Given the description of an element on the screen output the (x, y) to click on. 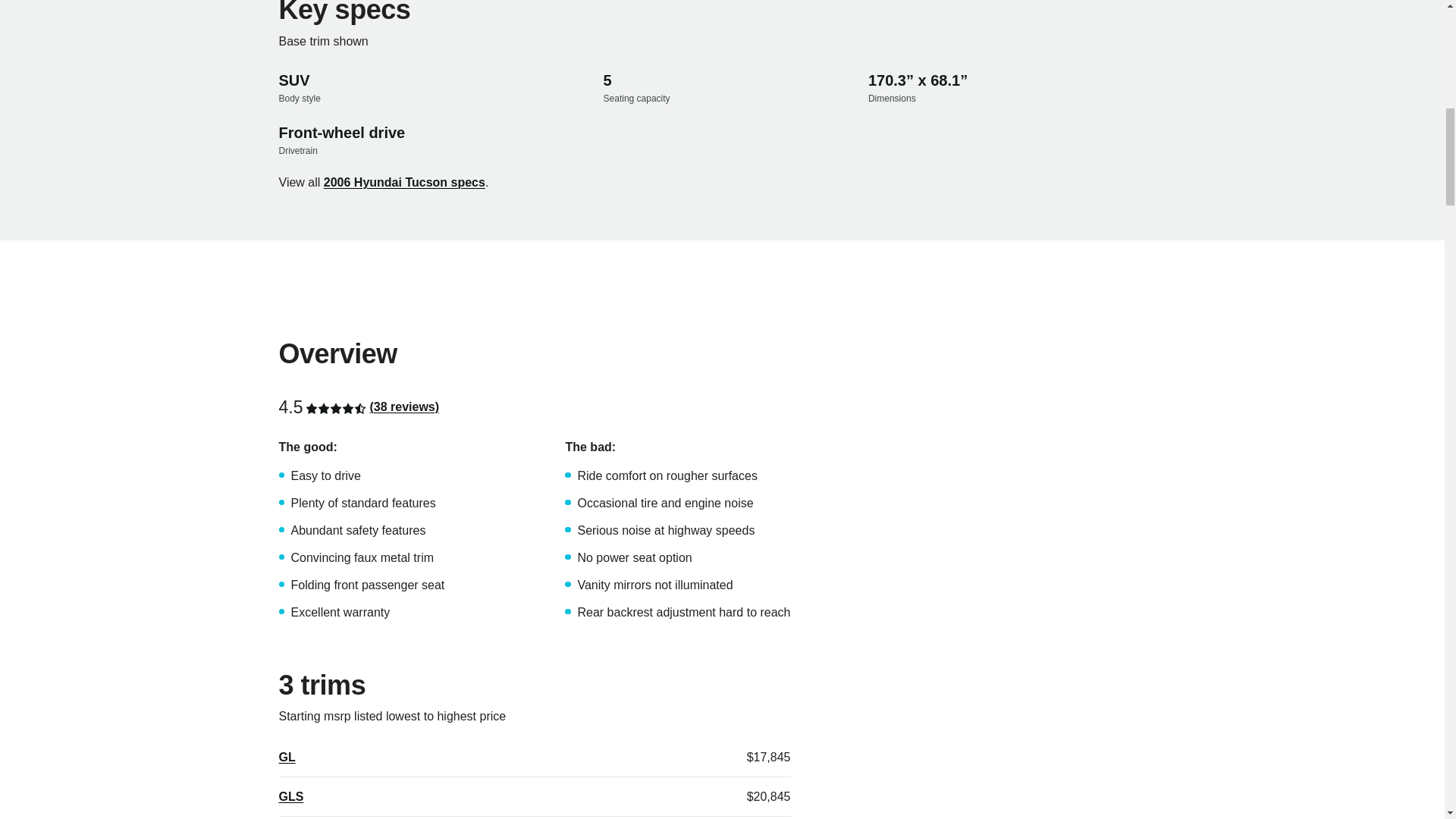
GLS (291, 796)
GL (287, 757)
2006 Hyundai Tucson specs (403, 182)
